Given the description of an element on the screen output the (x, y) to click on. 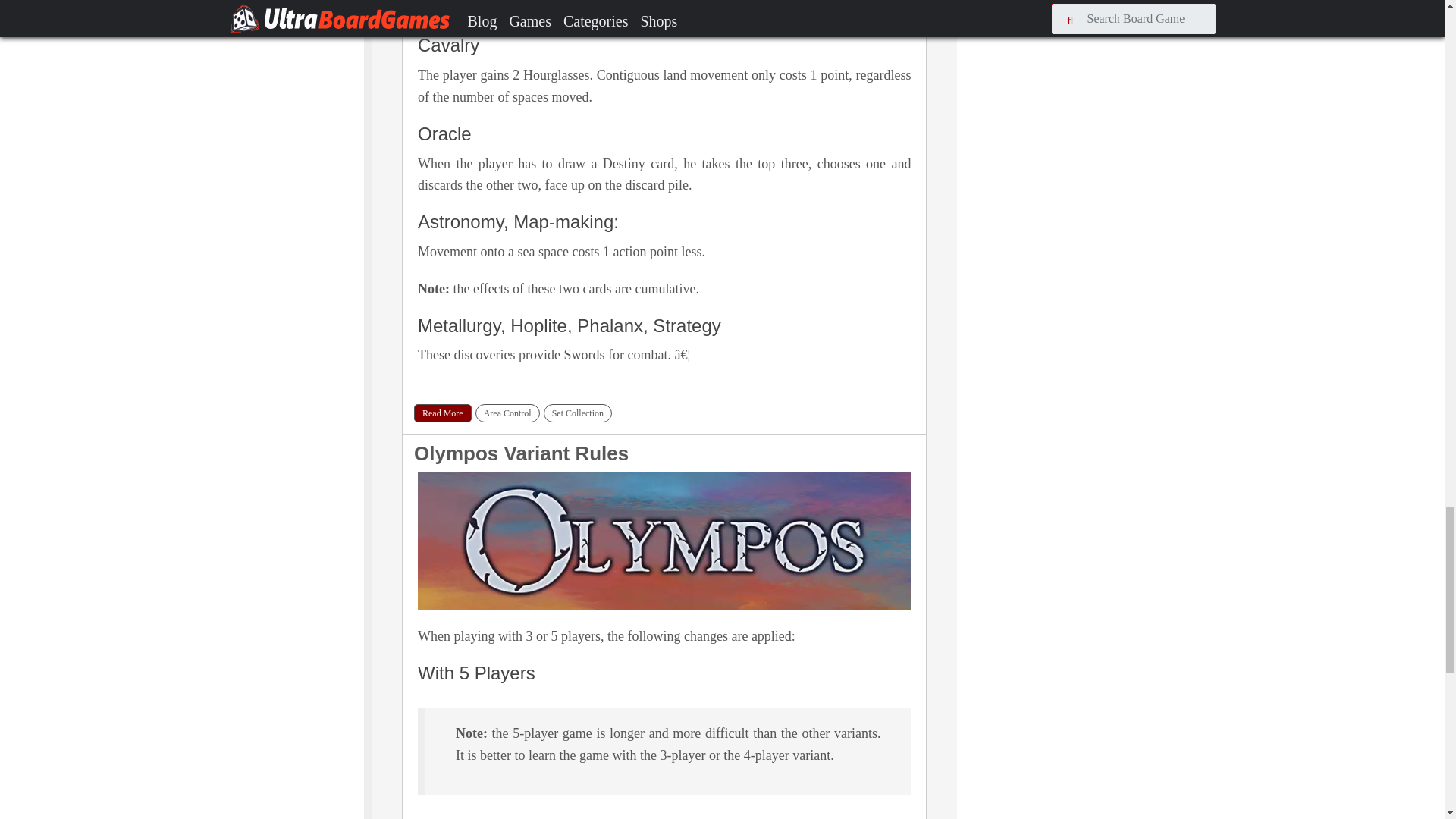
Area Control (508, 413)
Read More (442, 413)
Set Collection (577, 413)
